Given the description of an element on the screen output the (x, y) to click on. 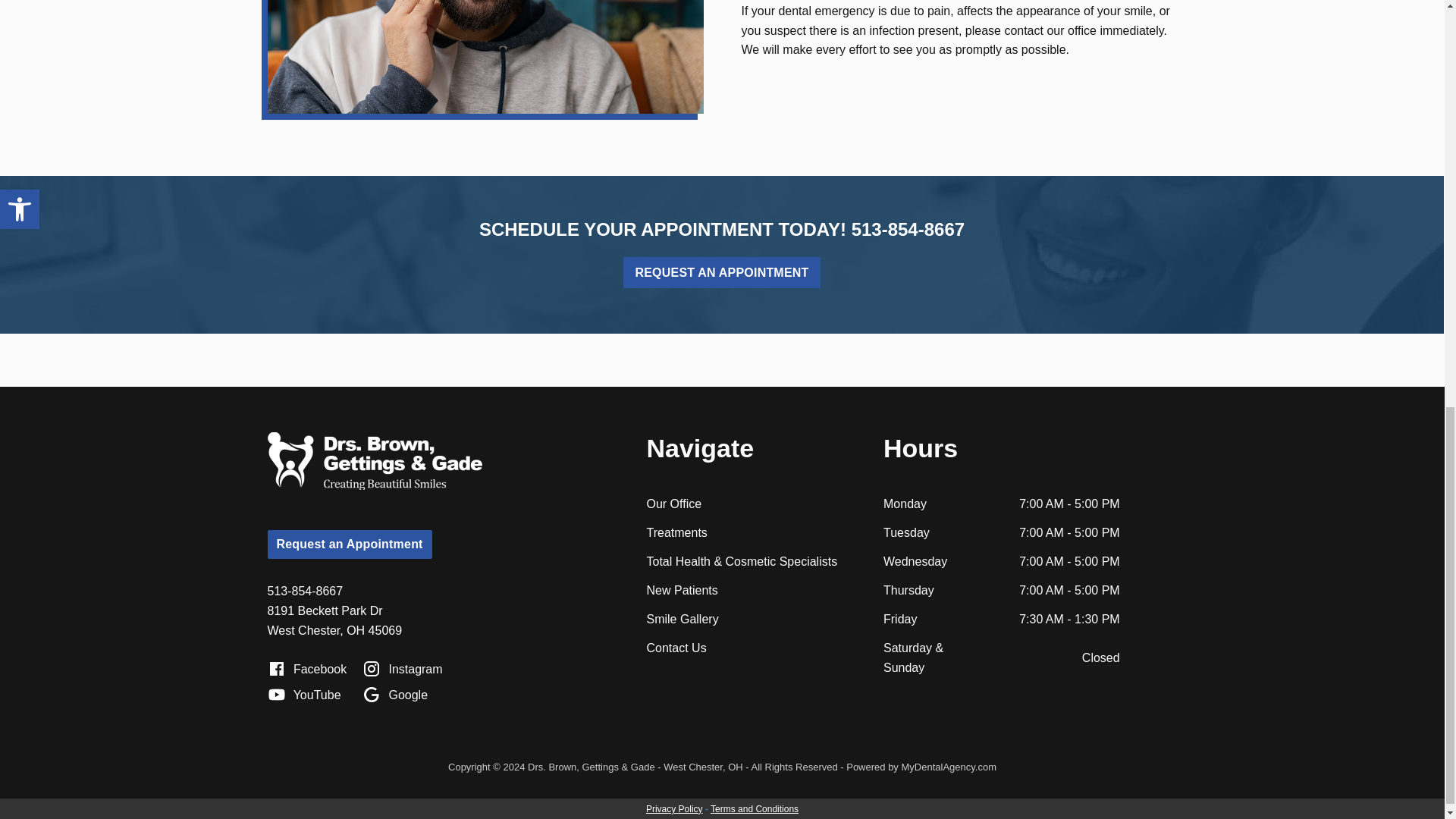
Request an Appointment (721, 272)
Dental Marketing Agency (948, 767)
